Given the description of an element on the screen output the (x, y) to click on. 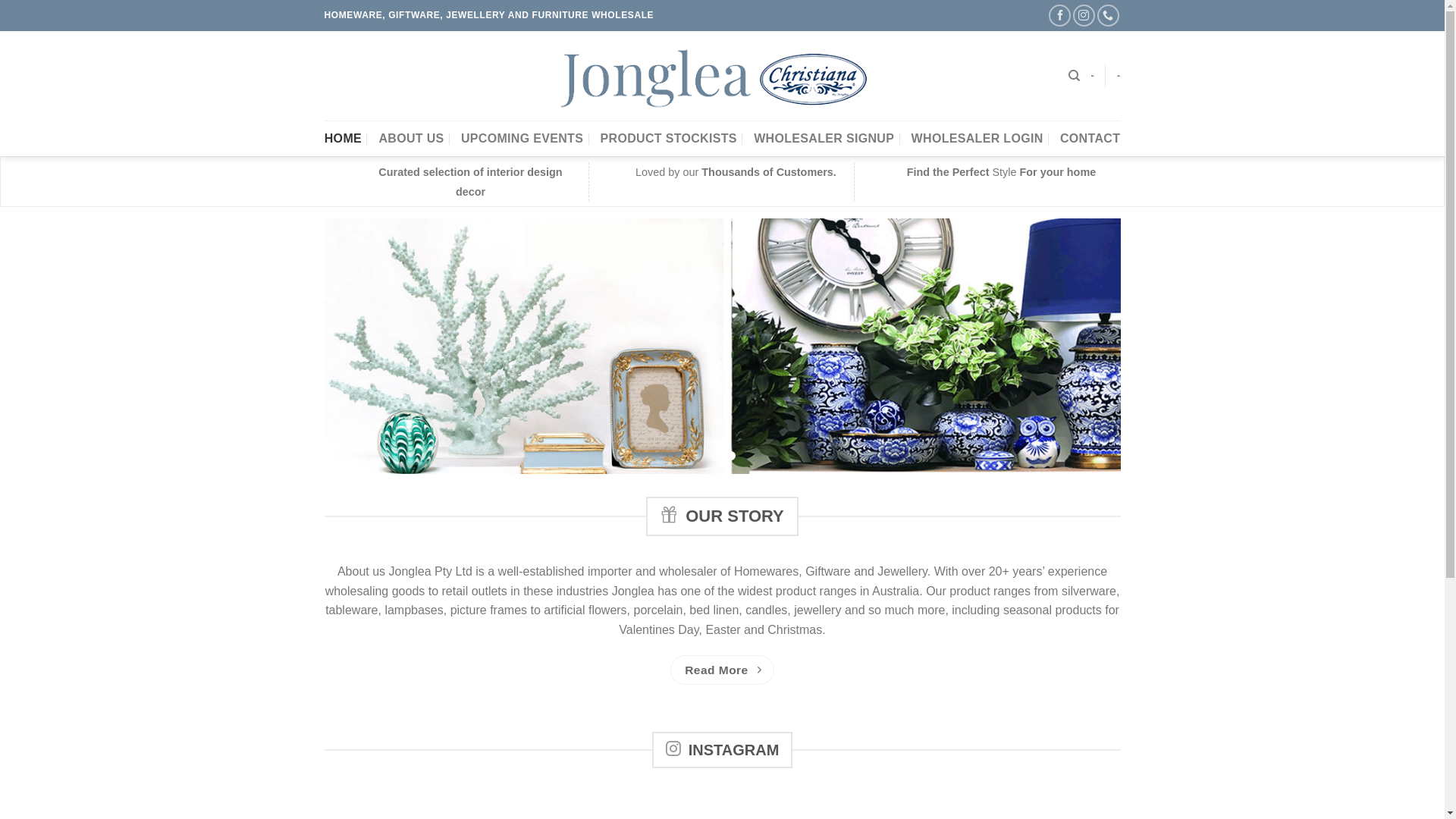
CONTACT Element type: text (1090, 138)
WHOLESALER SIGNUP Element type: text (823, 138)
Read More Element type: text (722, 669)
- Element type: text (1118, 75)
WHOLESALER LOGIN Element type: text (977, 138)
- Element type: text (1092, 75)
ABOUT US Element type: text (410, 138)
Jonglea - By Christiana Element type: hover (721, 75)
HOME Element type: text (342, 138)
UPCOMING EVENTS Element type: text (522, 138)
PRODUCT STOCKISTS Element type: text (668, 138)
